Given the description of an element on the screen output the (x, y) to click on. 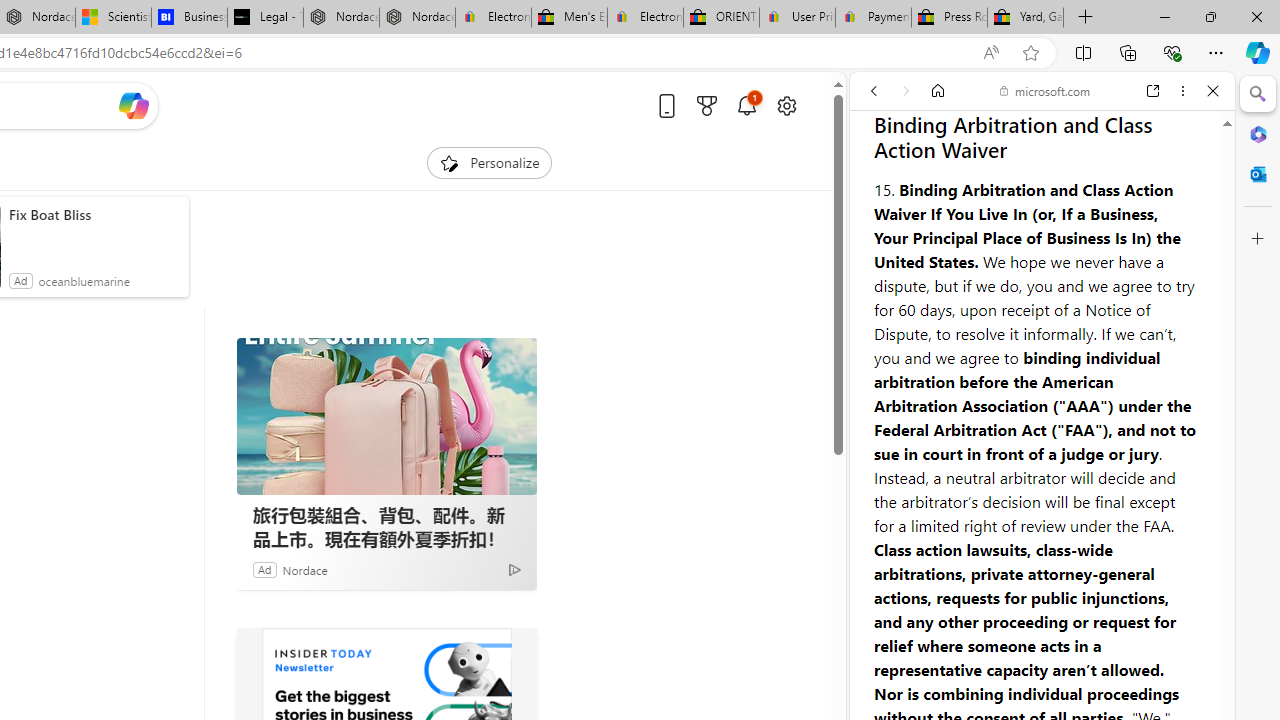
Ad Choice (514, 569)
Minimize Search pane (1258, 94)
Open Copilot (132, 105)
Web scope (882, 180)
More options (1182, 91)
oceanbluemarine (84, 280)
Open link in new tab (1153, 91)
